Given the description of an element on the screen output the (x, y) to click on. 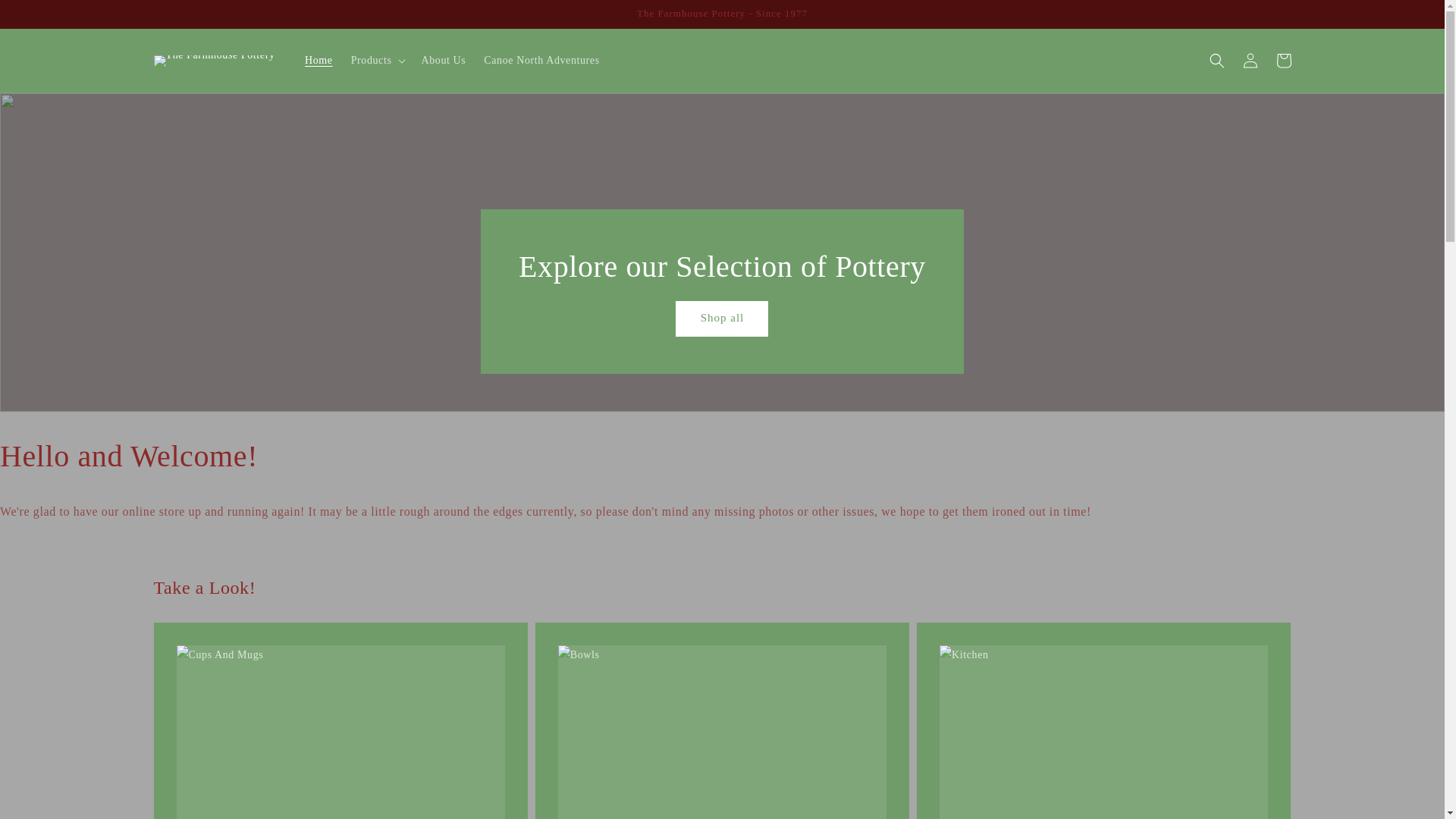
Skip to content (45, 16)
Cups And Mugs  (339, 720)
Bowls  (721, 720)
Cart (1283, 60)
Canoe North Adventures (541, 60)
Shop all (722, 318)
Kitchen  (1103, 720)
Home (318, 60)
Log in (1249, 60)
About Us (443, 60)
